Given the description of an element on the screen output the (x, y) to click on. 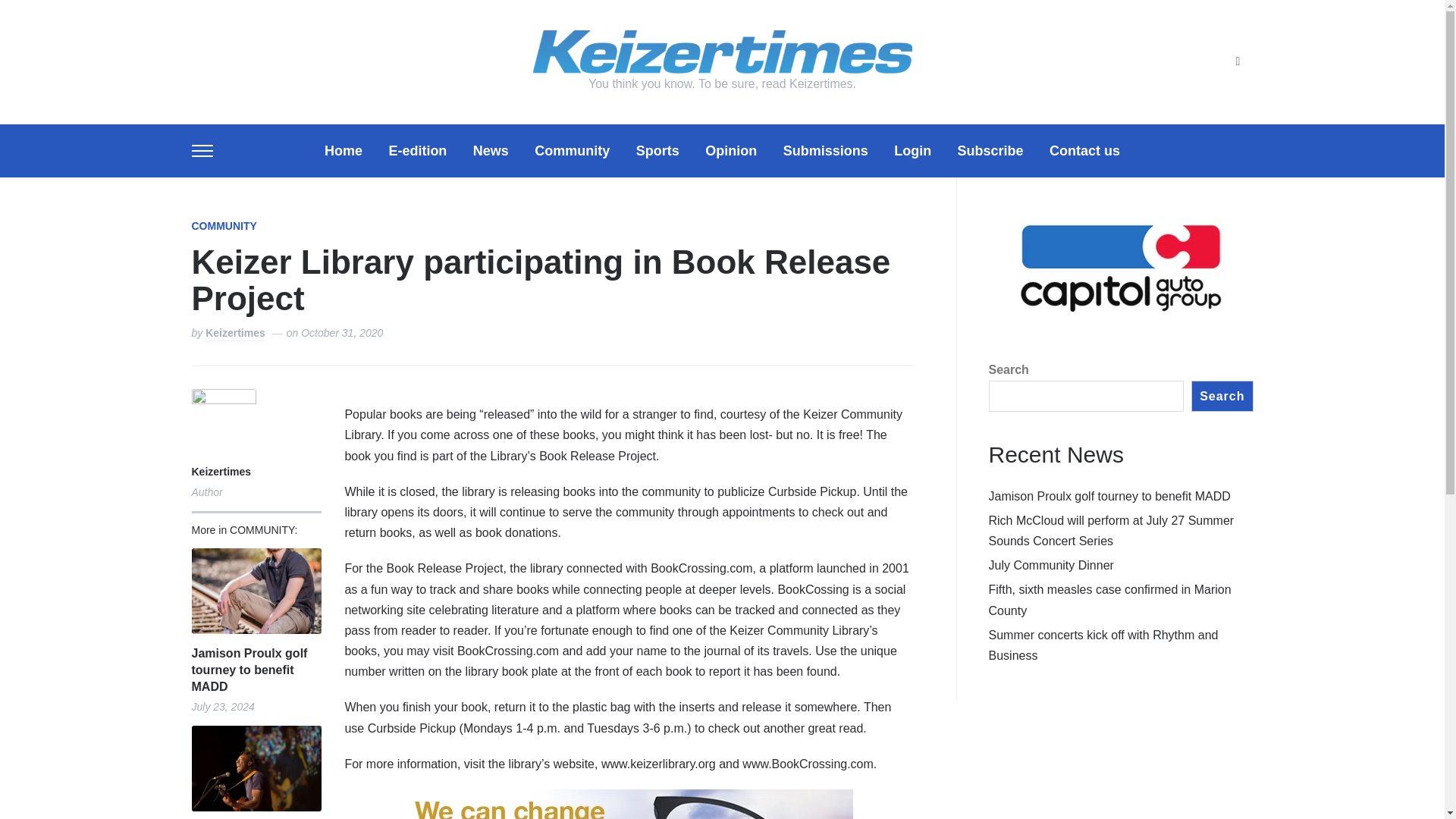
News (490, 150)
E-edition (417, 150)
Posts by Keizertimes (234, 333)
Home (343, 150)
Submissions (825, 150)
Community (572, 150)
Permalink to Jamison Proulx golf tourney to benefit MADD (255, 590)
Posts by Keizertimes (223, 473)
Permalink to Jamison Proulx golf tourney to benefit MADD (255, 669)
Subscribe (990, 150)
Login (912, 150)
Search (1237, 61)
Sports (657, 150)
Opinion (730, 150)
